Given the description of an element on the screen output the (x, y) to click on. 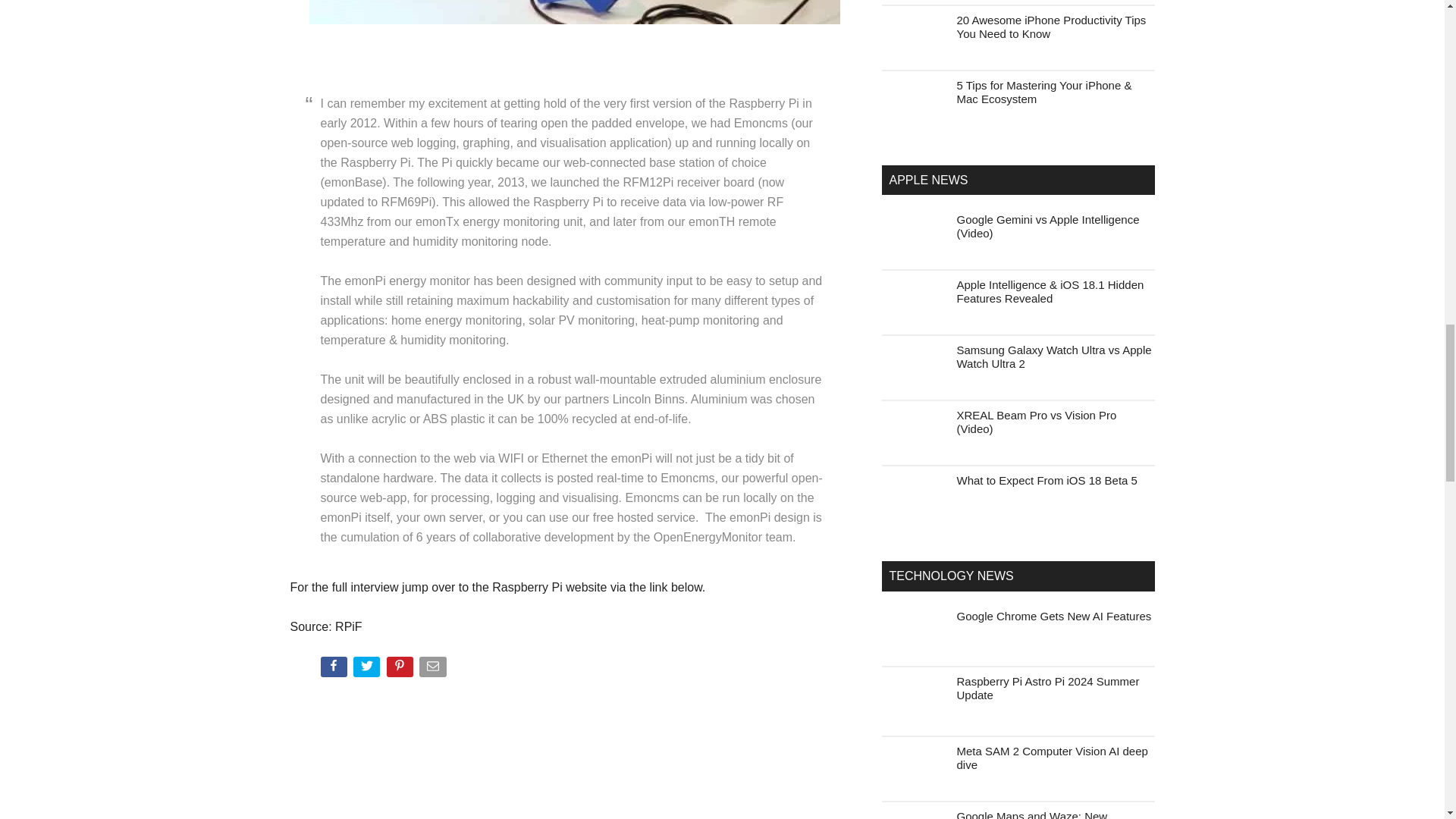
Email (433, 669)
Pin (401, 669)
Share on Facebook (334, 669)
Tweet (367, 669)
